Given the description of an element on the screen output the (x, y) to click on. 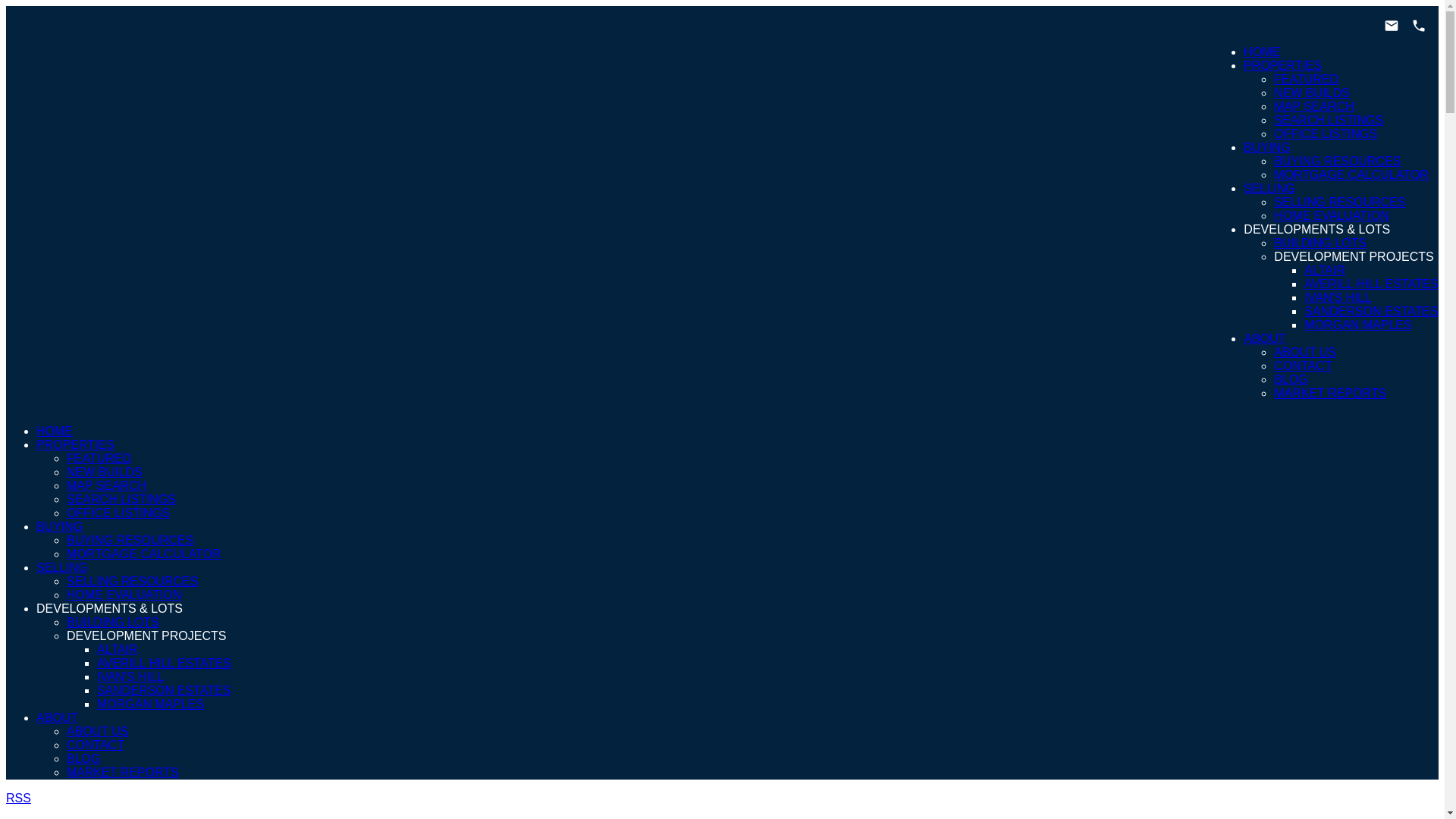
NEW BUILDS (1311, 92)
SELLING (1269, 187)
BUYING RESOURCES (1337, 160)
FEATURED (98, 458)
HOME (1261, 51)
ABOUT US (1305, 351)
PROPERTIES (1282, 65)
CONTACT (1303, 365)
HOME EVALUATION (123, 594)
BUYING (1266, 146)
